Given the description of an element on the screen output the (x, y) to click on. 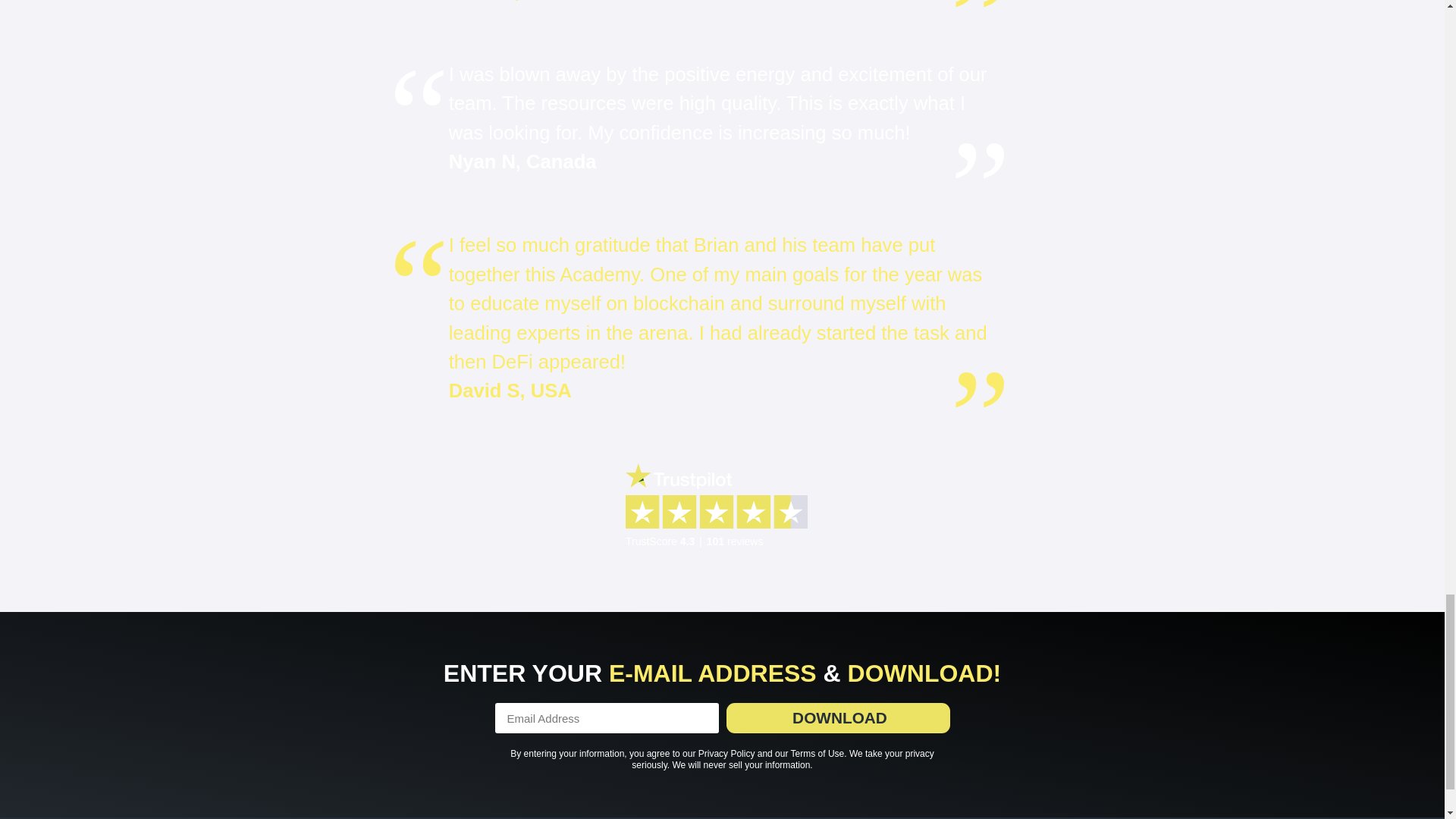
DOWNLOAD (838, 717)
TrustScore 4.3 101 reviews (722, 505)
